Given the description of an element on the screen output the (x, y) to click on. 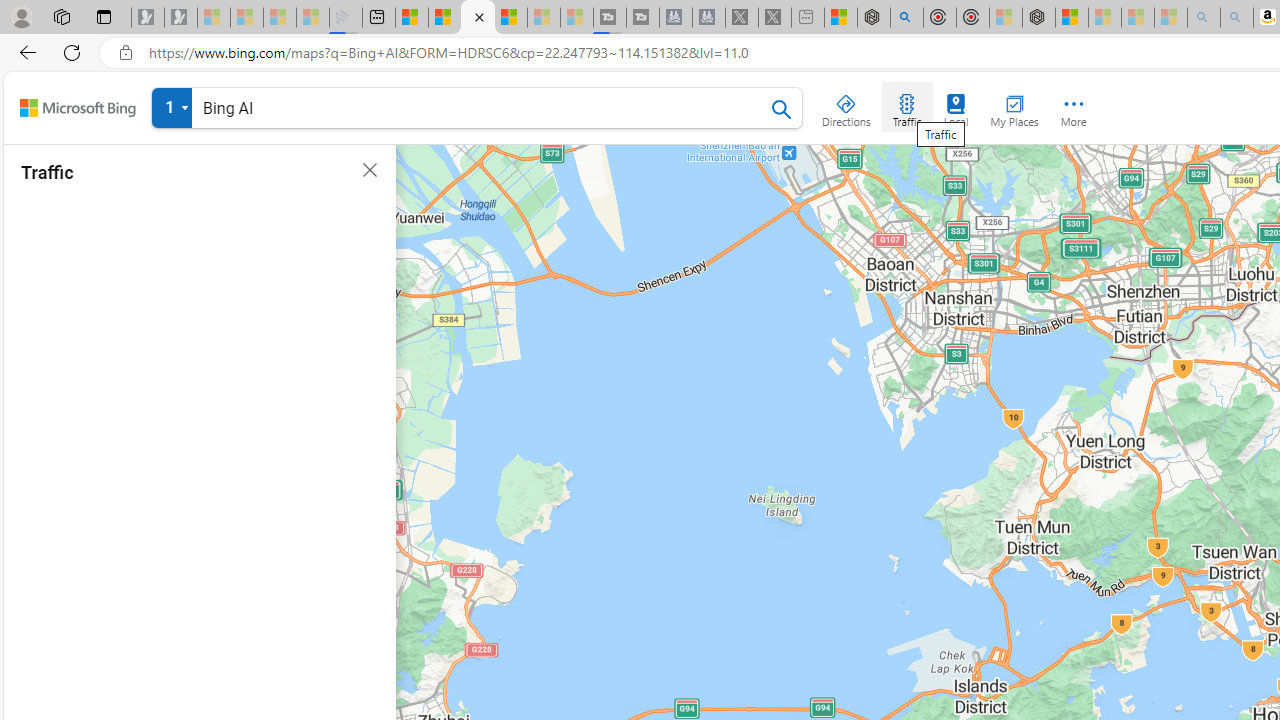
Microsoft Start - Sleeping (543, 17)
My Places (1014, 106)
Streaming Coverage | T3 - Sleeping (609, 17)
Directions (846, 106)
Nordace - Nordace Siena Is Not An Ordinary Backpack (1038, 17)
poe - Search (906, 17)
Newsletter Sign Up - Sleeping (181, 17)
Search Bing Maps (781, 109)
Class: sbElement (77, 107)
